Given the description of an element on the screen output the (x, y) to click on. 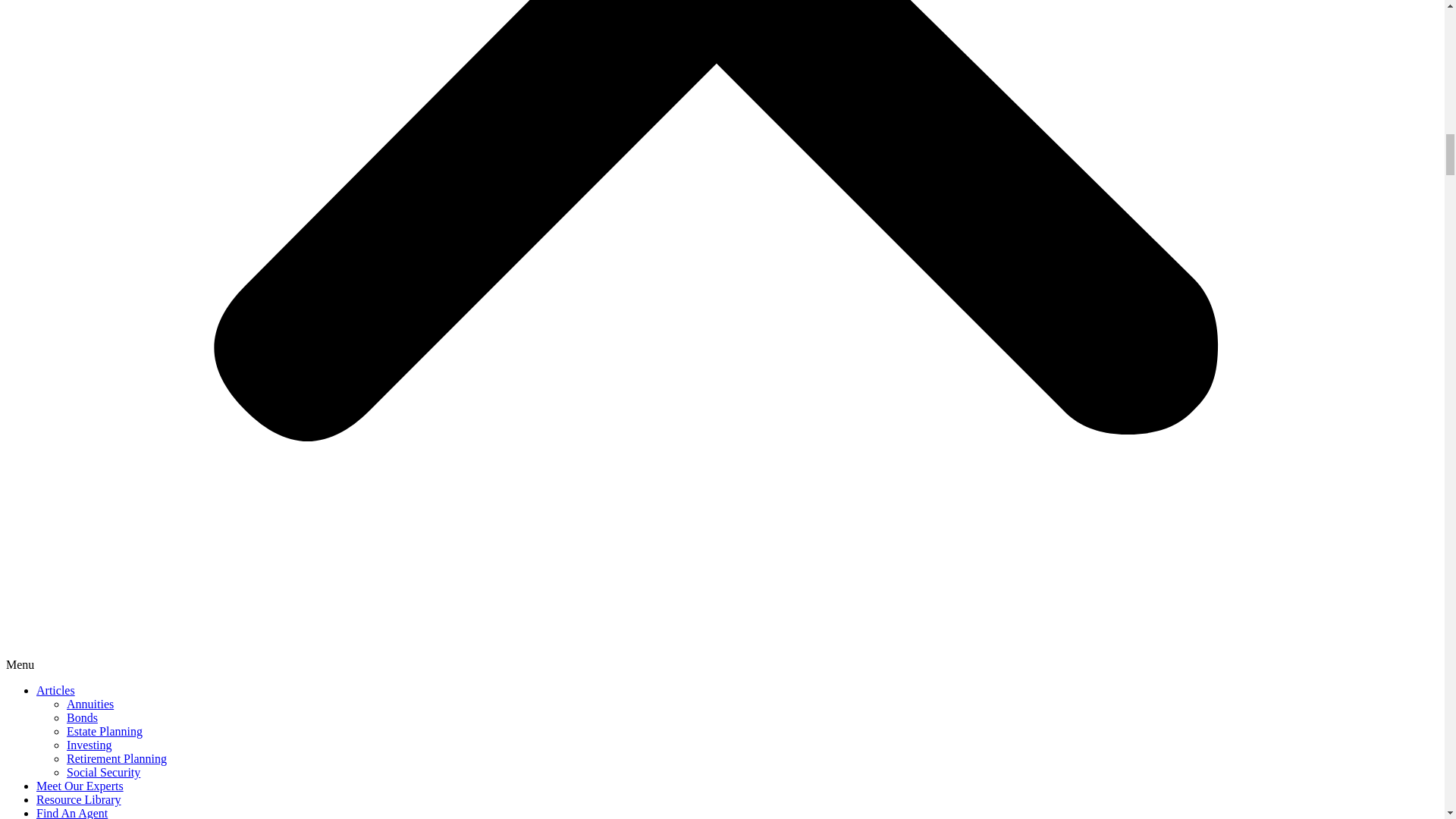
Retirement Planning (116, 758)
Find An Agent (71, 812)
Meet Our Experts (79, 785)
Annuities (89, 703)
Resource Library (78, 799)
Investing (89, 744)
Articles (55, 689)
Social Security (102, 771)
Bonds (81, 717)
Estate Planning (104, 730)
